Given the description of an element on the screen output the (x, y) to click on. 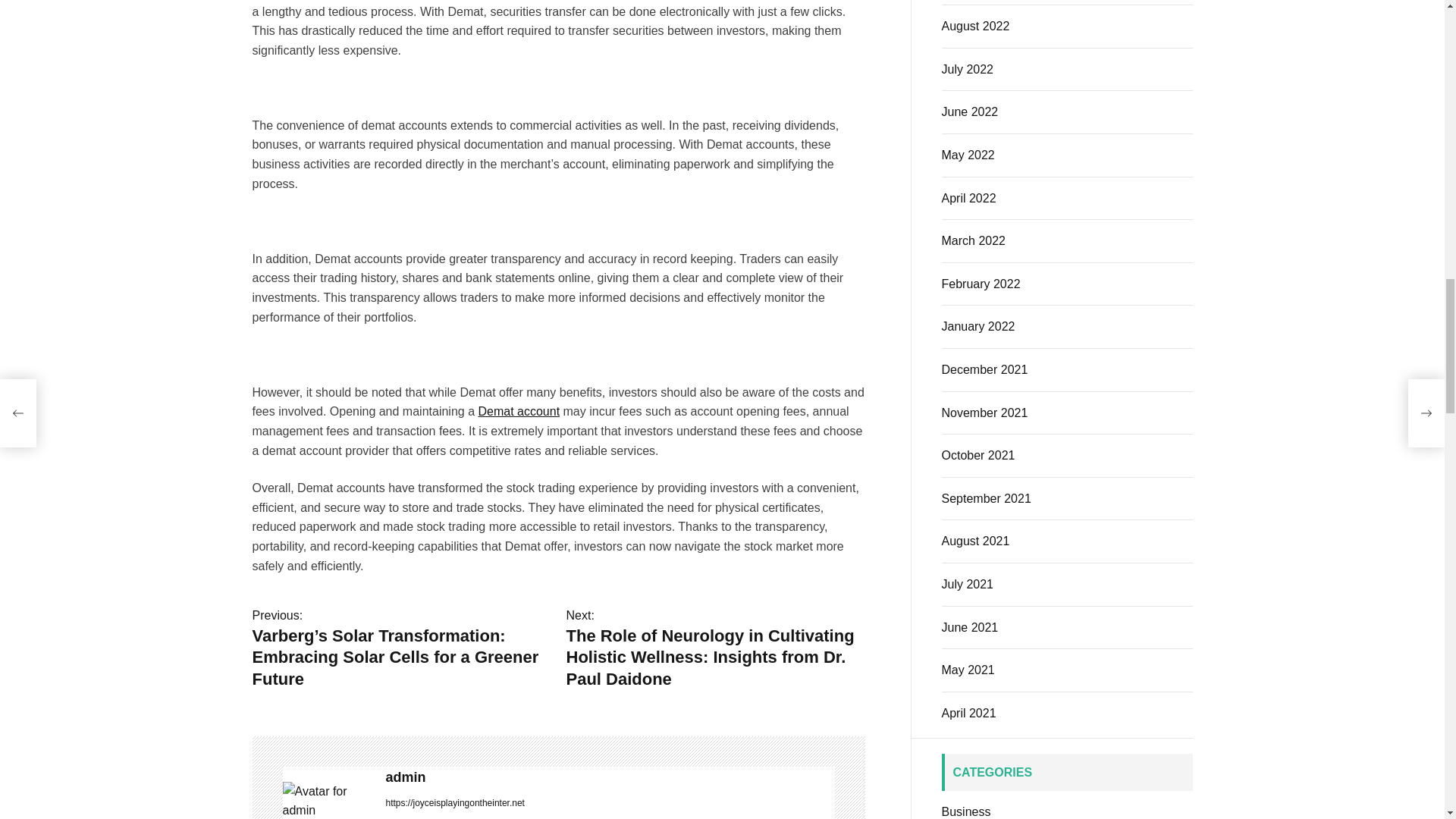
admin (609, 777)
Demat account (518, 410)
admin (609, 777)
admin (325, 800)
